Given the description of an element on the screen output the (x, y) to click on. 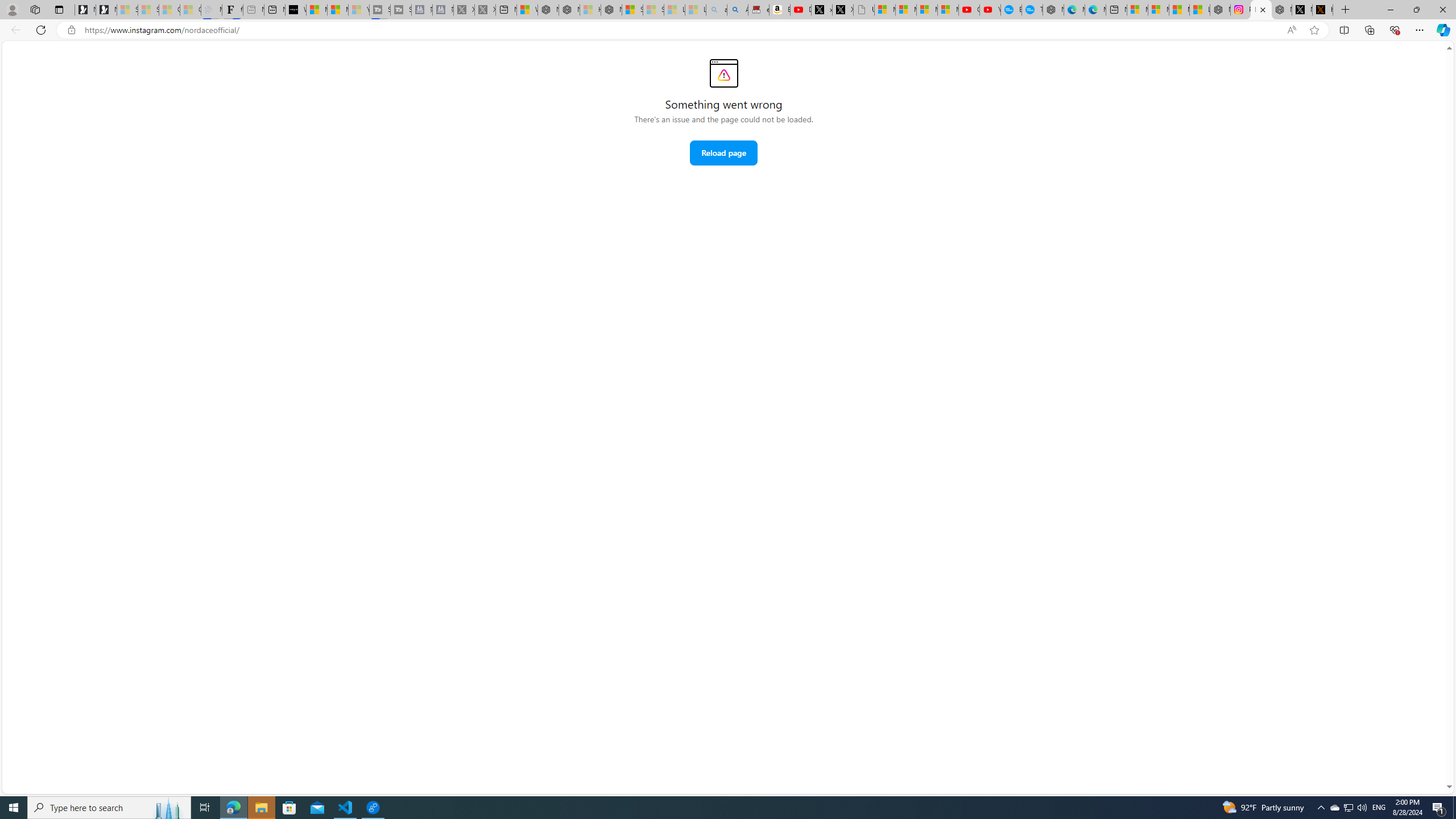
Nordace - Nordace has arrived Hong Kong (1053, 9)
